Given the description of an element on the screen output the (x, y) to click on. 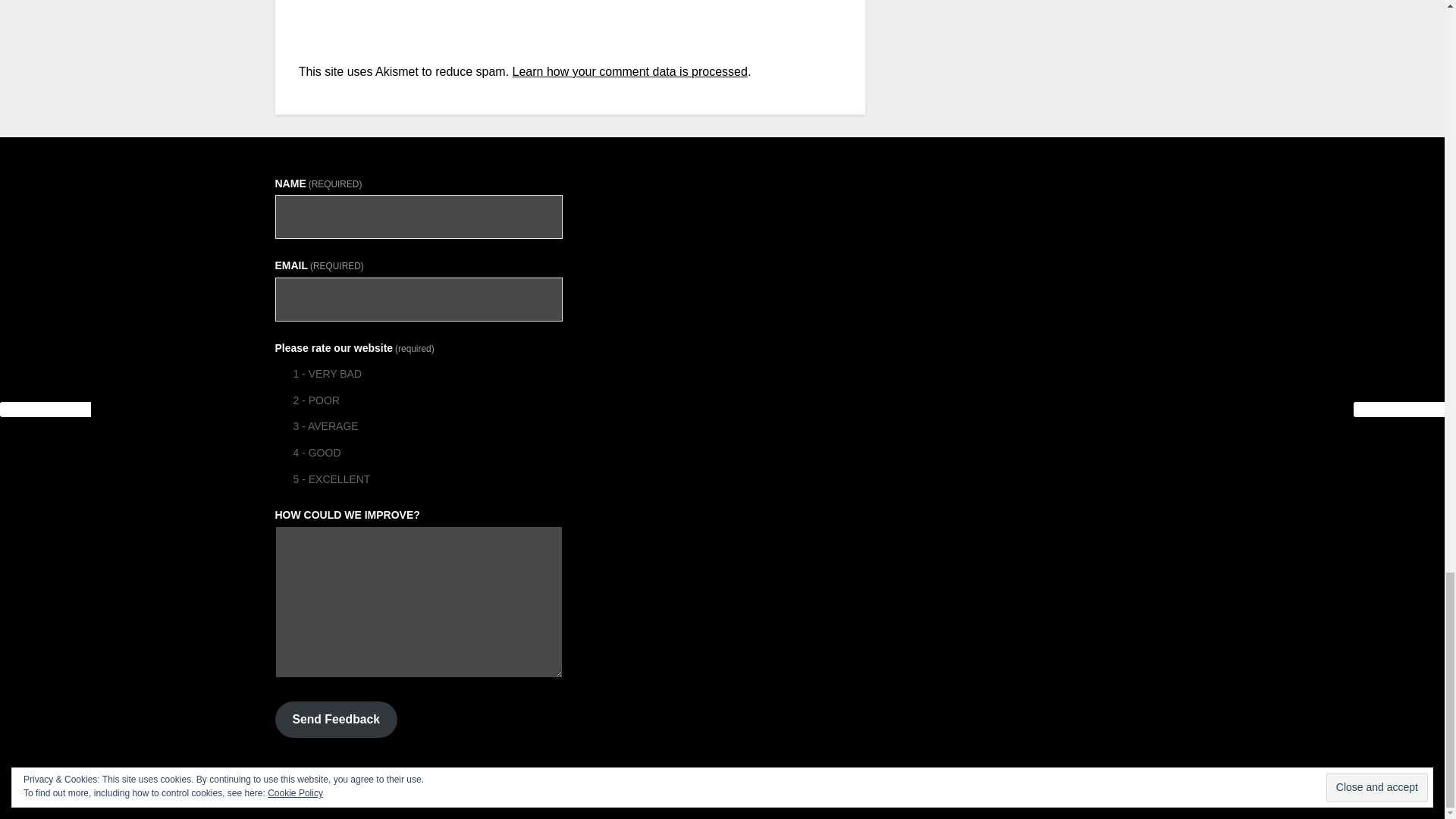
4 - Good (280, 452)
5 - Excellent (280, 478)
2 - Poor (280, 399)
1 - Very Bad (280, 372)
3 - Average (280, 426)
